Given the description of an element on the screen output the (x, y) to click on. 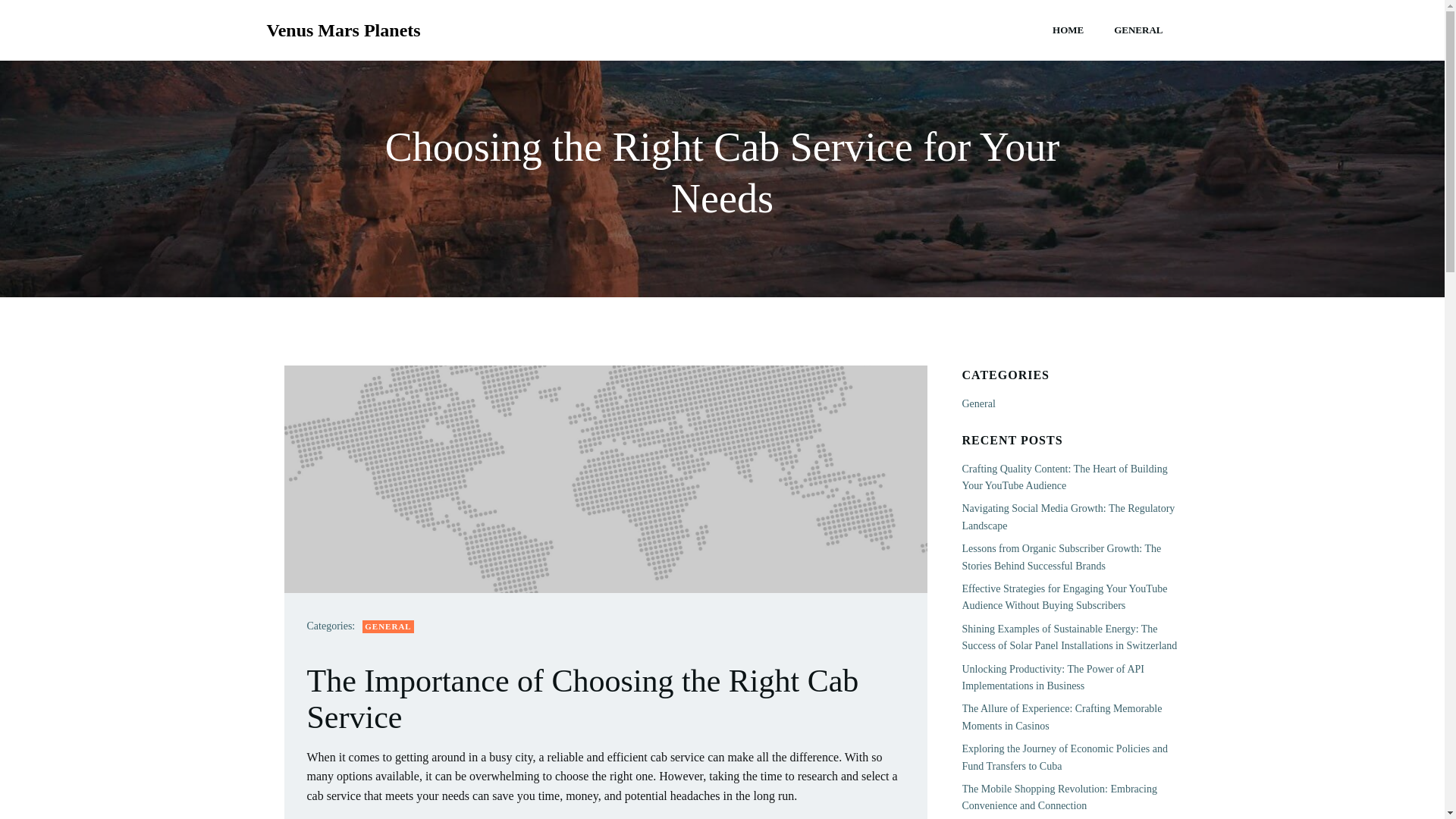
General (977, 403)
GENERAL (387, 626)
Venus Mars Planets (343, 30)
Navigating Social Media Growth: The Regulatory Landscape (1067, 516)
